Given the description of an element on the screen output the (x, y) to click on. 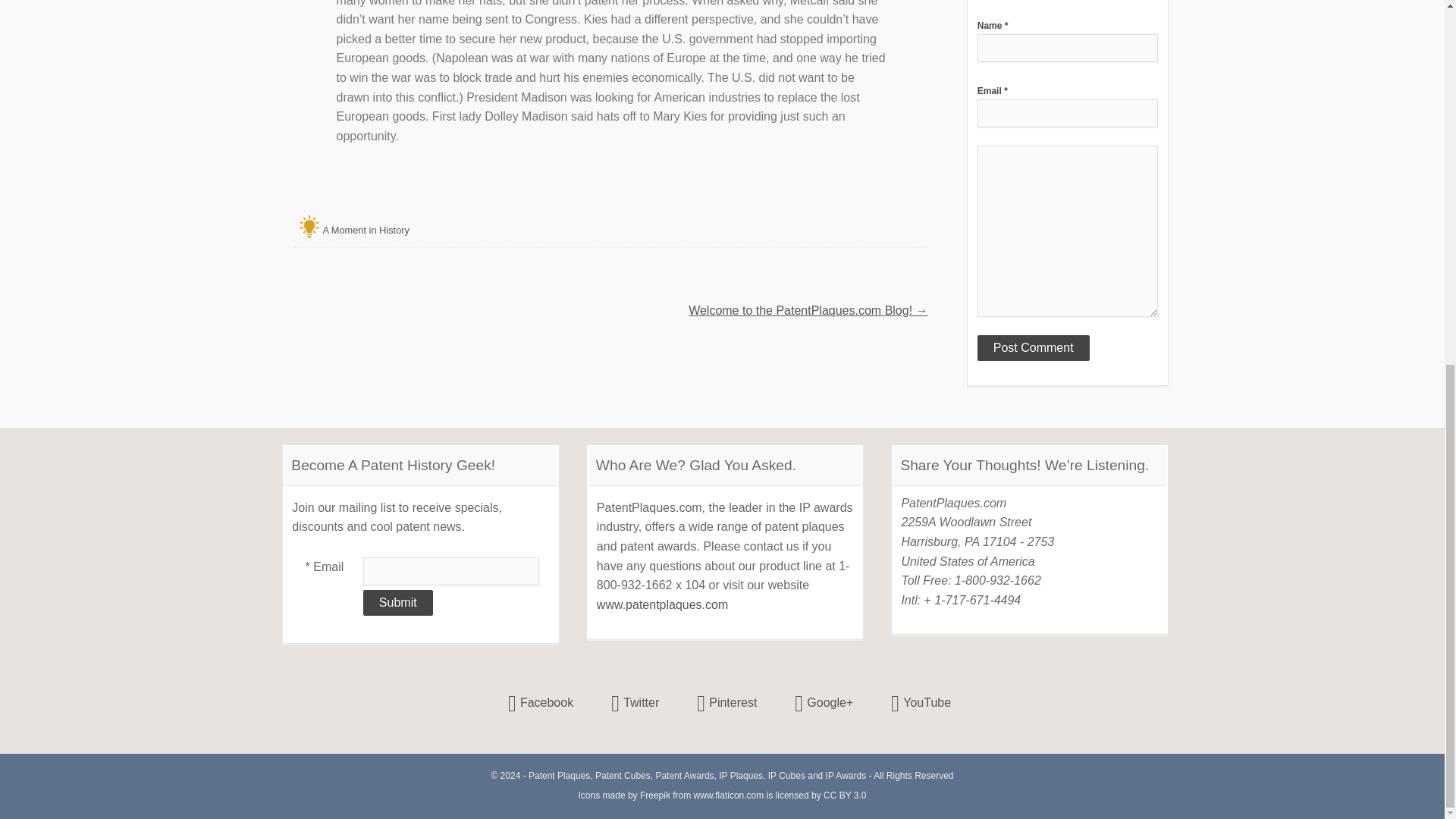
A Moment in History (365, 229)
Submit (397, 602)
YouTube (920, 703)
Twitter (635, 703)
Submit (397, 602)
Facebook (540, 703)
www.patentplaques.com (662, 604)
Pinterest (726, 703)
Post Comment (1032, 347)
Post Comment (1032, 347)
